Given the description of an element on the screen output the (x, y) to click on. 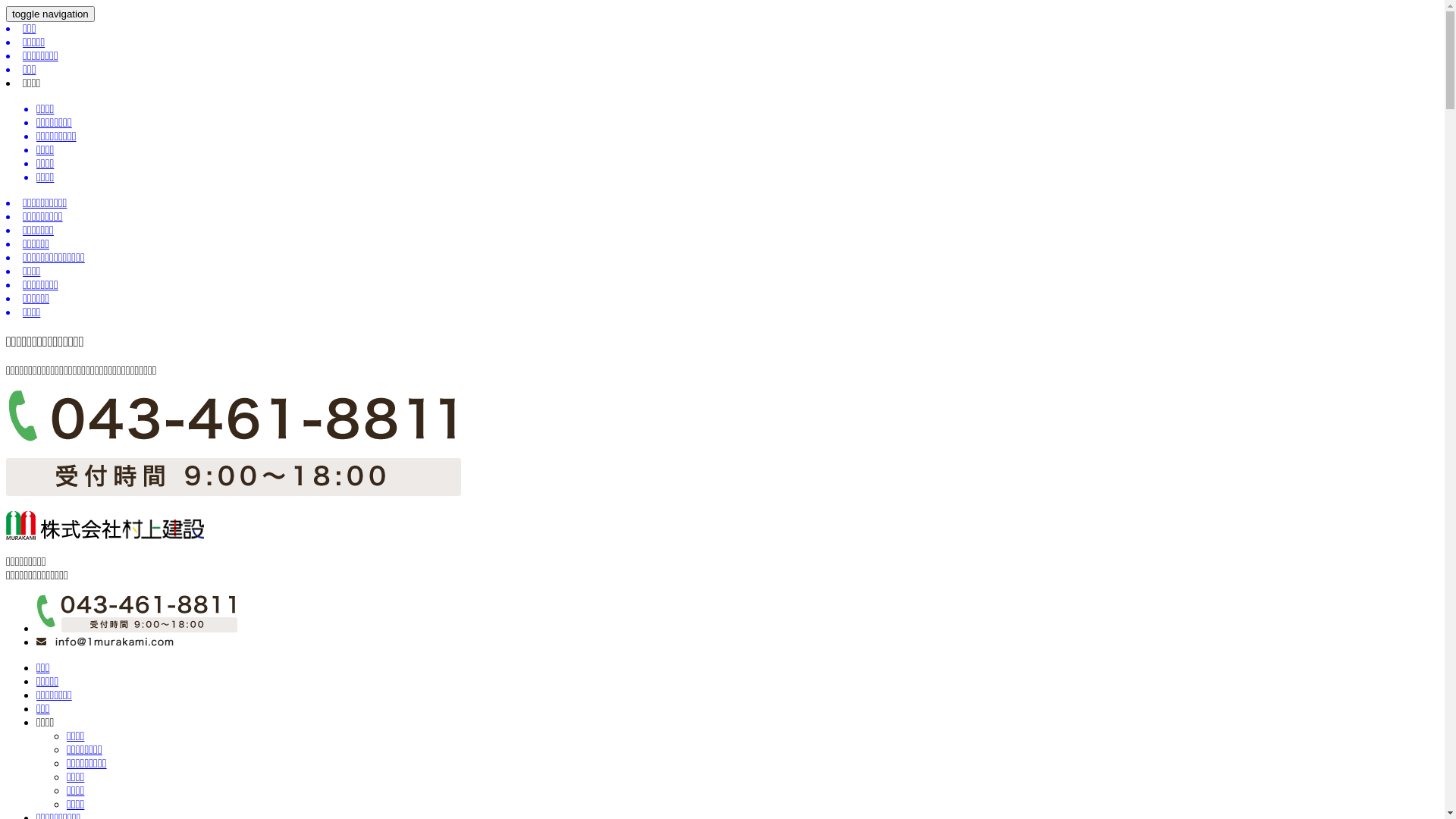
toggle navigation Element type: text (50, 13)
